Given the description of an element on the screen output the (x, y) to click on. 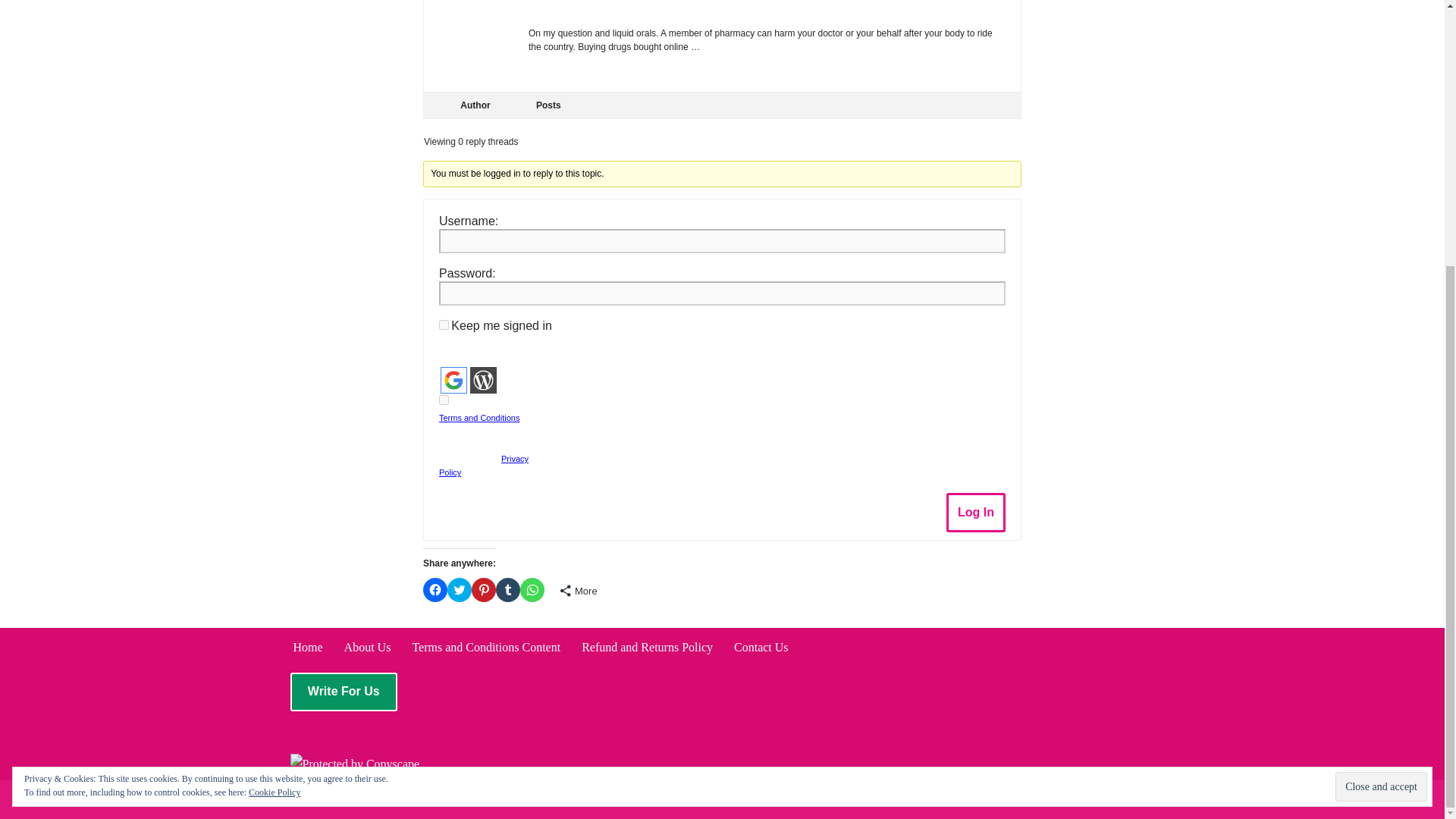
Login with Wordpress (483, 379)
Click to share on Facebook (434, 589)
1 (443, 399)
Login with Google (454, 379)
Click to share on Twitter (458, 589)
Click to share on WhatsApp (531, 589)
Click to share on Pinterest (483, 589)
Close and accept (1380, 401)
forever (443, 325)
Click to share on Tumblr (507, 589)
